Given the description of an element on the screen output the (x, y) to click on. 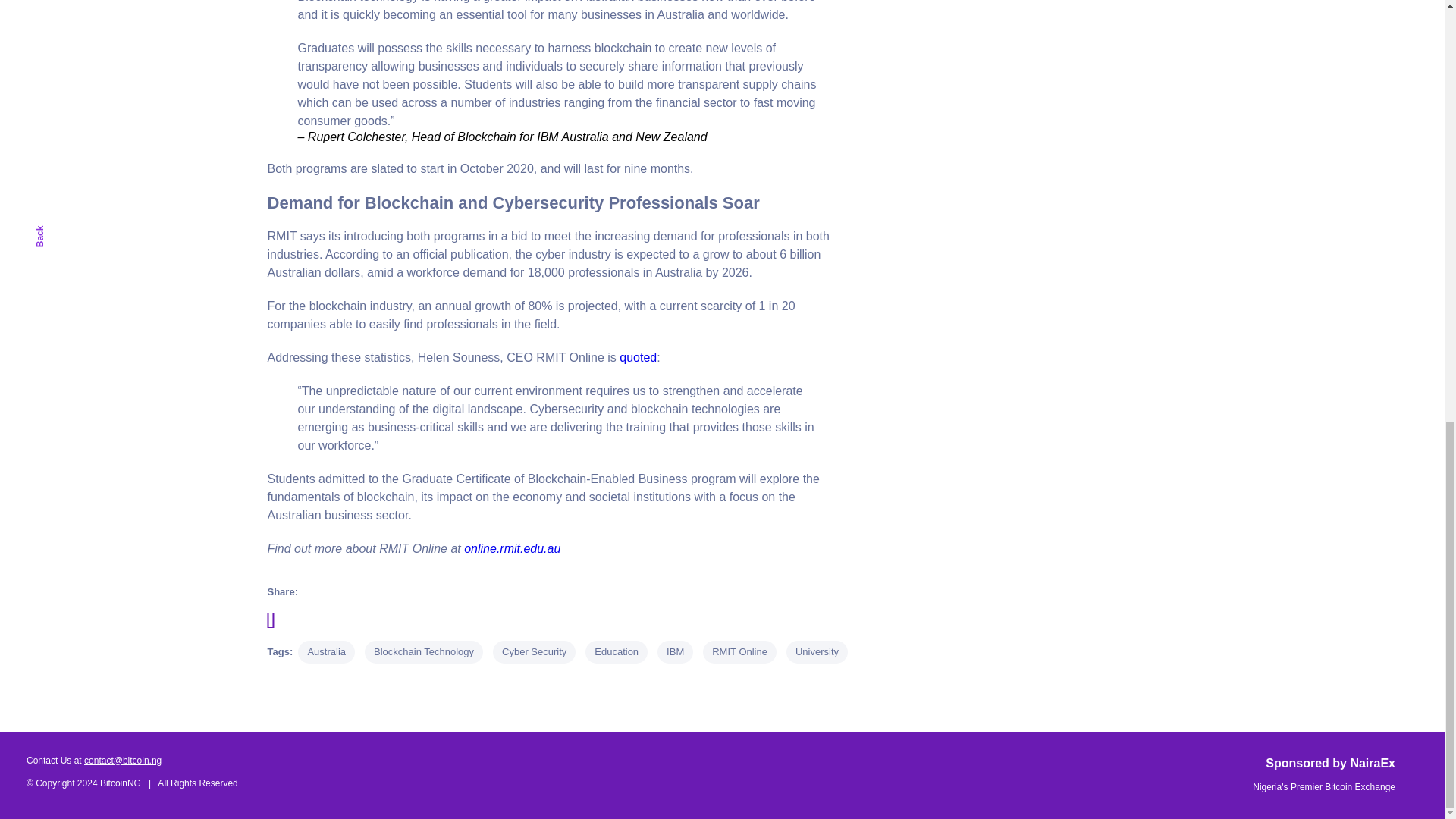
IBM (675, 651)
University (816, 651)
online.rmit.edu.au (512, 548)
Cyber Security (534, 651)
Australia (326, 651)
quoted (638, 357)
Blockchain Technology (424, 651)
RMIT Online (739, 651)
Education (616, 651)
